Given the description of an element on the screen output the (x, y) to click on. 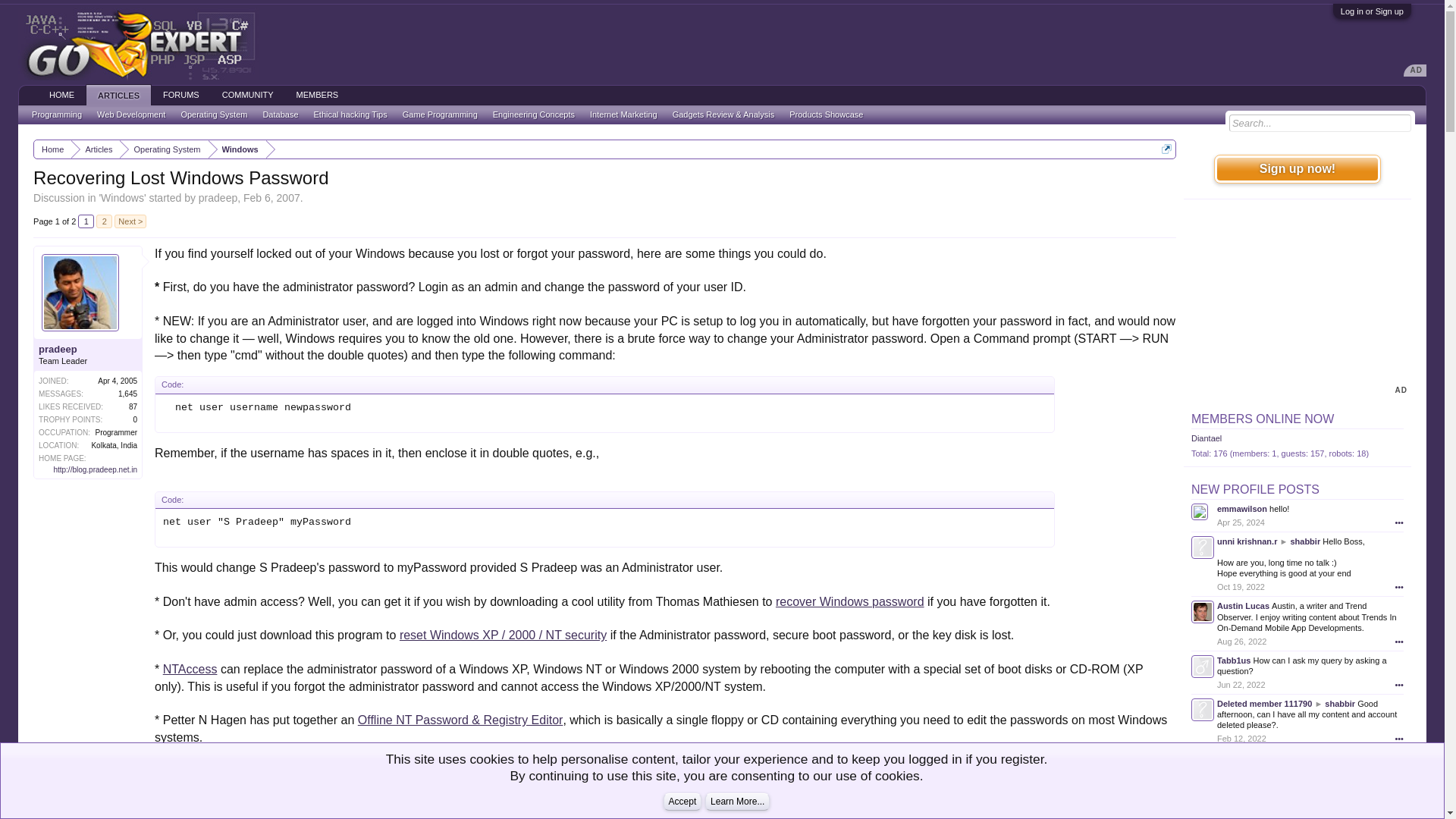
pradeep (87, 349)
Articles (95, 149)
Windows (236, 149)
Permalink (1155, 810)
pradeep (169, 810)
2 (104, 221)
Windows (122, 197)
Log in or Sign up (1371, 10)
pradeep (217, 197)
Home (52, 149)
Feb 6, 2007 (271, 197)
Feb 6, 2007 (212, 810)
Permalink (212, 810)
Kolkata, India (113, 445)
Open quick navigation (1166, 148)
